Given the description of an element on the screen output the (x, y) to click on. 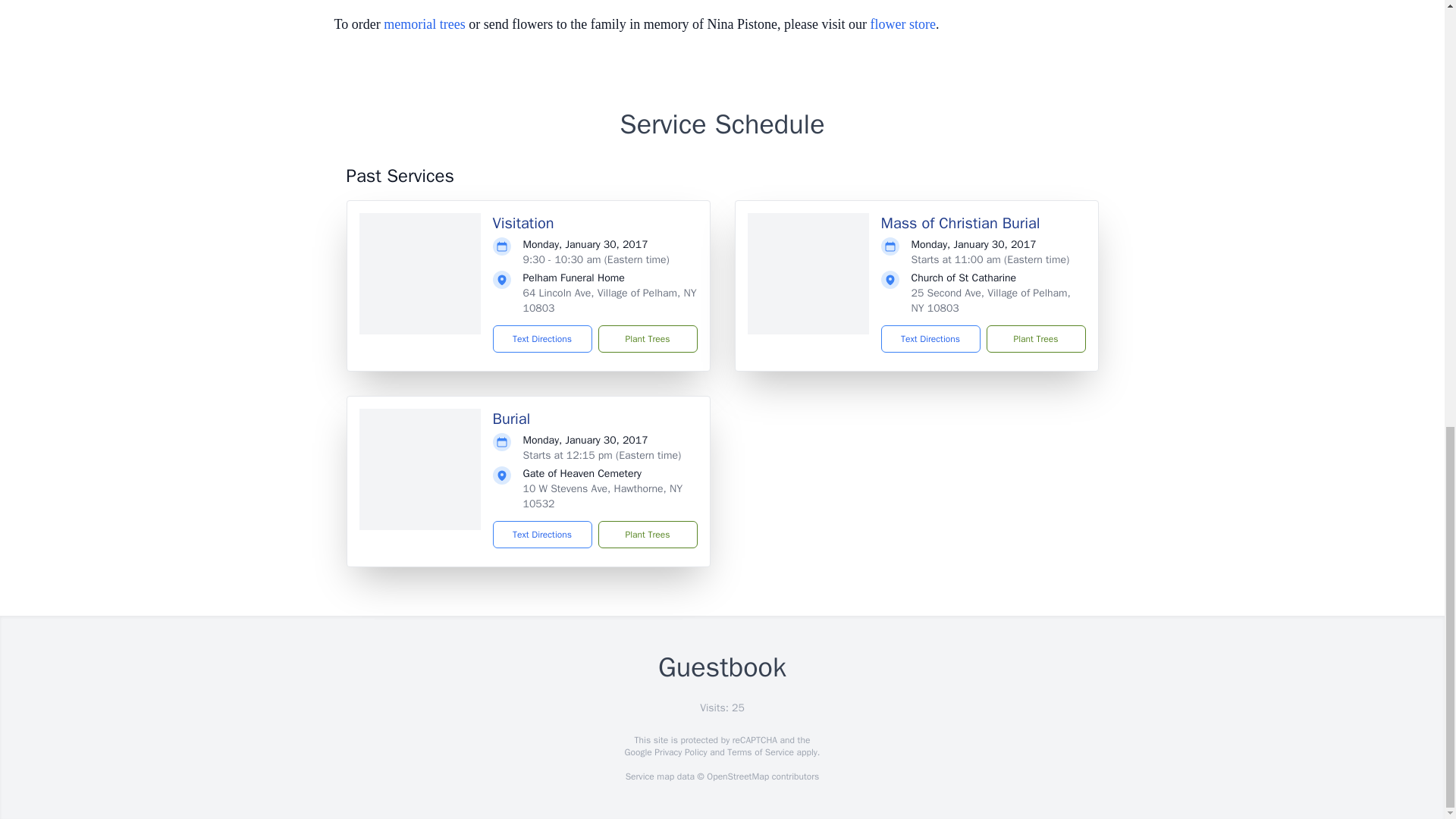
10 W Stevens Ave, Hawthorne, NY 10532 (602, 496)
25 Second Ave, Village of Pelham, NY 10803 (990, 300)
Plant Trees (646, 338)
Terms of Service (759, 752)
memorial trees (424, 23)
Text Directions (542, 533)
OpenStreetMap (737, 776)
64 Lincoln Ave, Village of Pelham, NY 10803 (609, 300)
Plant Trees (1034, 338)
Text Directions (929, 338)
